Given the description of an element on the screen output the (x, y) to click on. 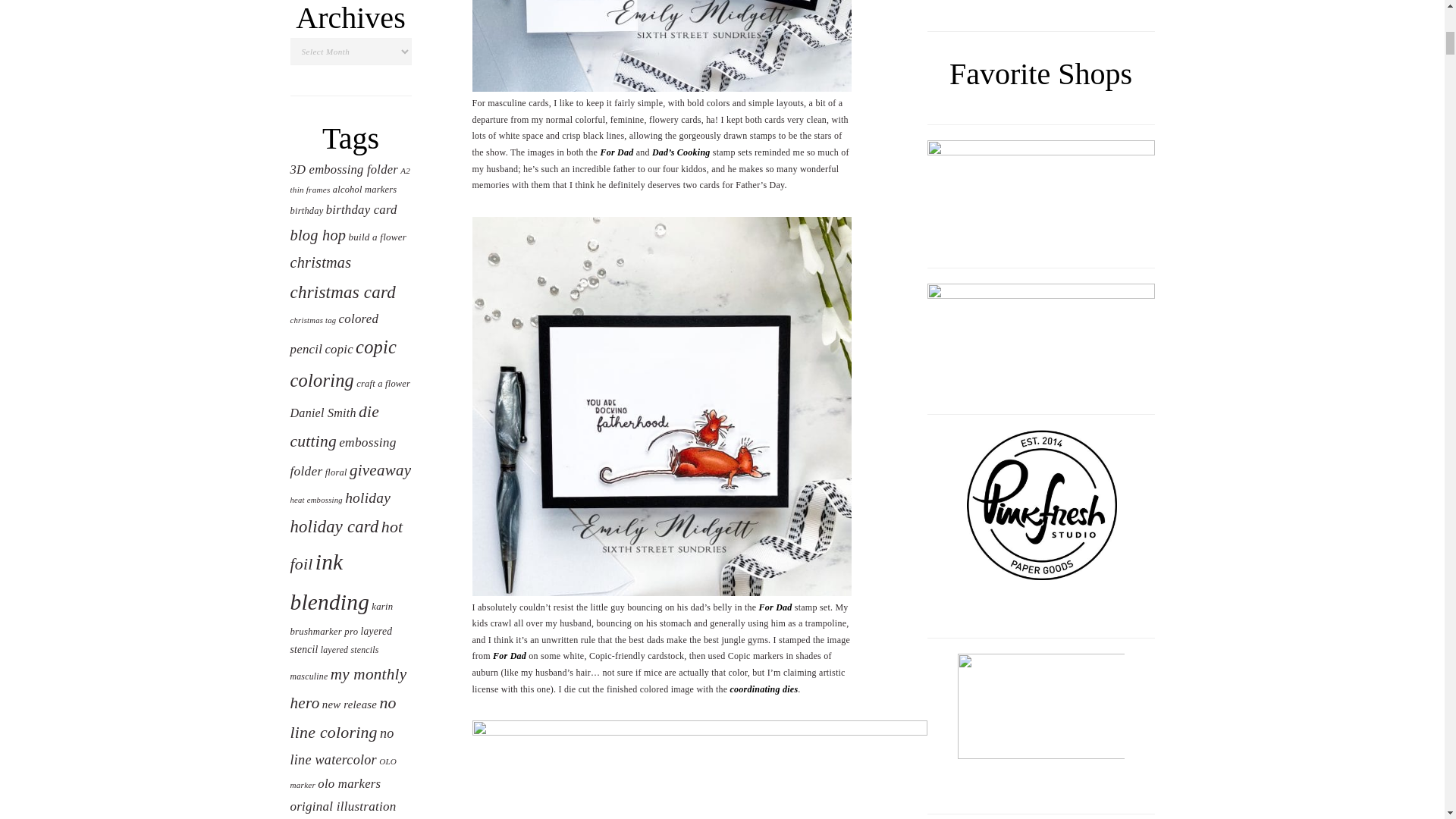
For Dad (616, 152)
For Dad (775, 606)
coordinating dies (763, 688)
For Dad (509, 655)
